Given the description of an element on the screen output the (x, y) to click on. 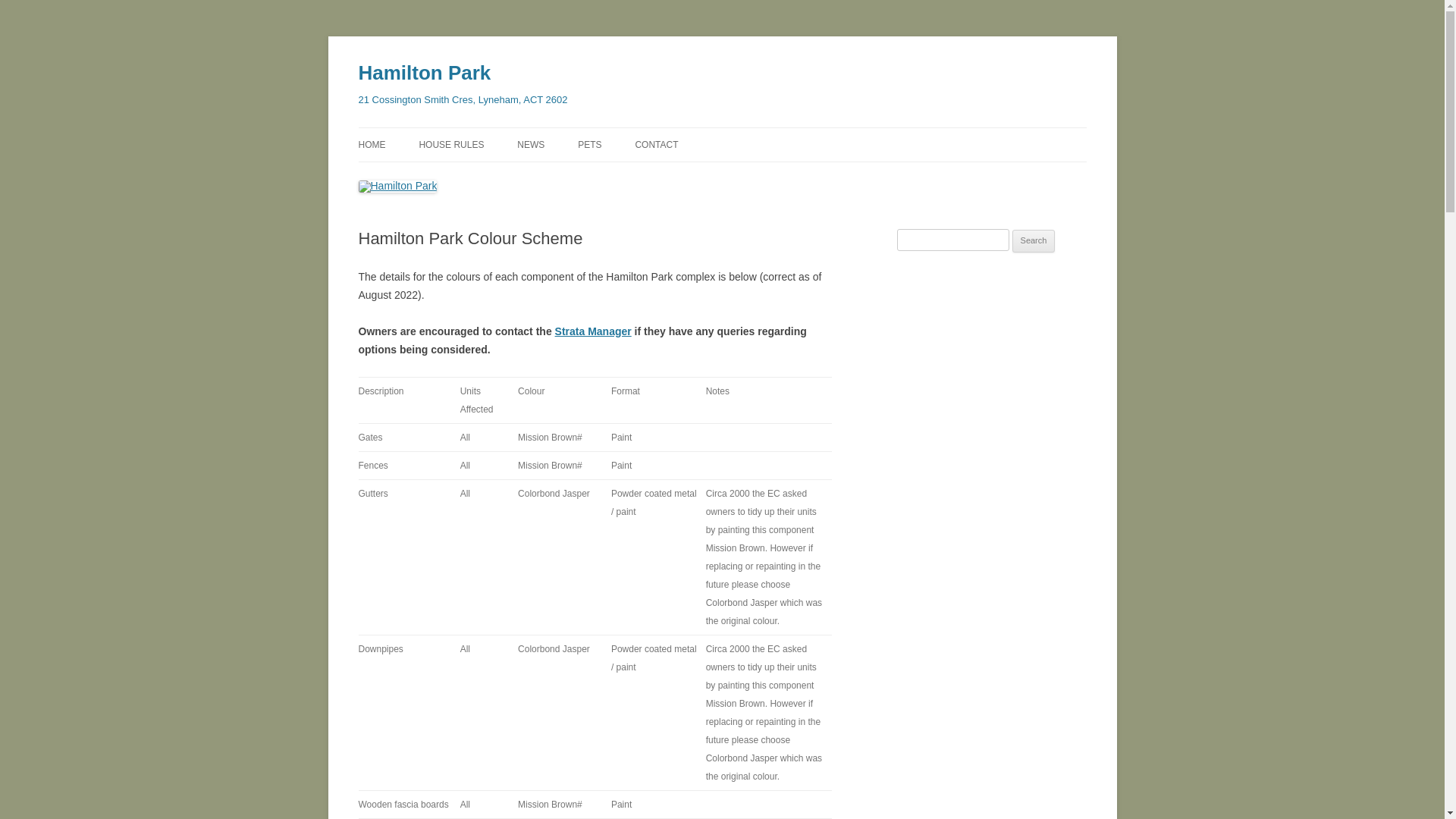
CONTACT Element type: text (655, 144)
Hamilton Park Element type: text (423, 72)
Skip to content Element type: text (721, 127)
Strata Manager Element type: text (593, 331)
PETS Element type: text (589, 144)
Search Element type: text (1033, 240)
HOUSE RULES Element type: text (450, 144)
NEWS Element type: text (530, 144)
HOME Element type: text (371, 144)
